Given the description of an element on the screen output the (x, y) to click on. 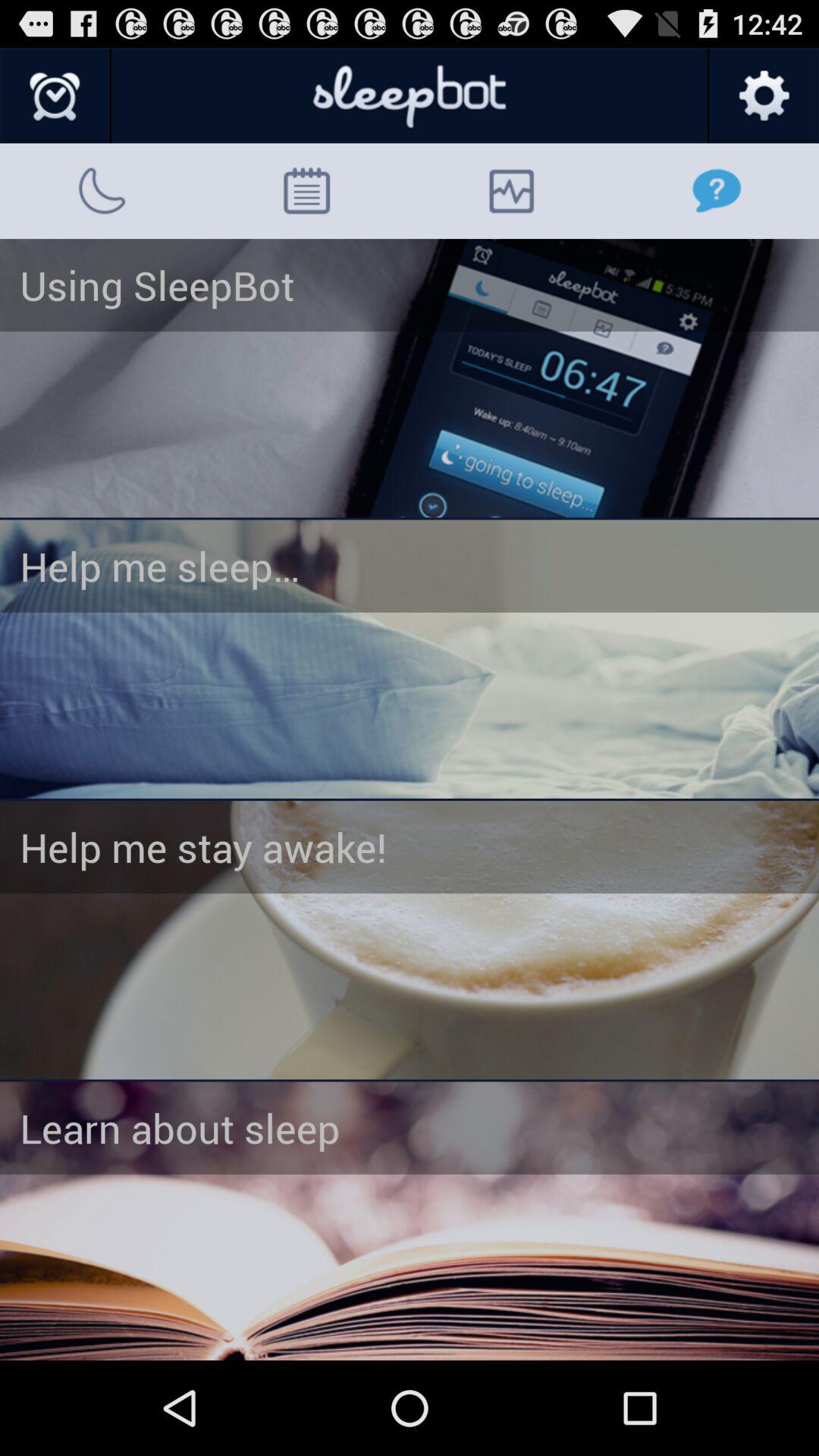
opens article (409, 939)
